Given the description of an element on the screen output the (x, y) to click on. 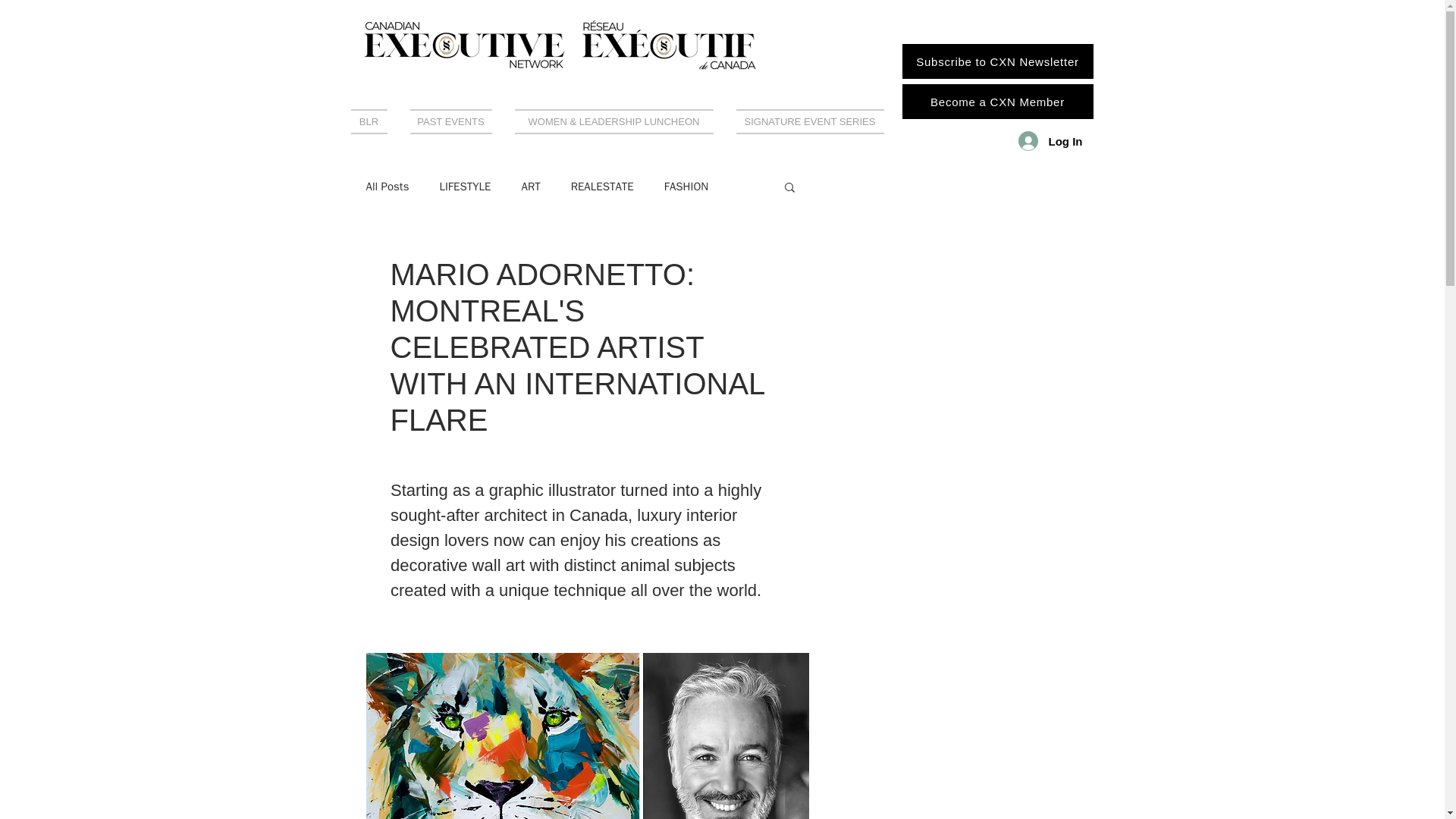
FASHION (685, 186)
Become a CXN Member (997, 101)
Subscribe to CXN Newsletter (997, 61)
PAST EVENTS (450, 121)
ART (530, 186)
LIFESTYLE (464, 186)
REALESTATE (601, 186)
BLR (373, 121)
SIGNATURE EVENT SERIES (804, 121)
All Posts (387, 186)
